Given the description of an element on the screen output the (x, y) to click on. 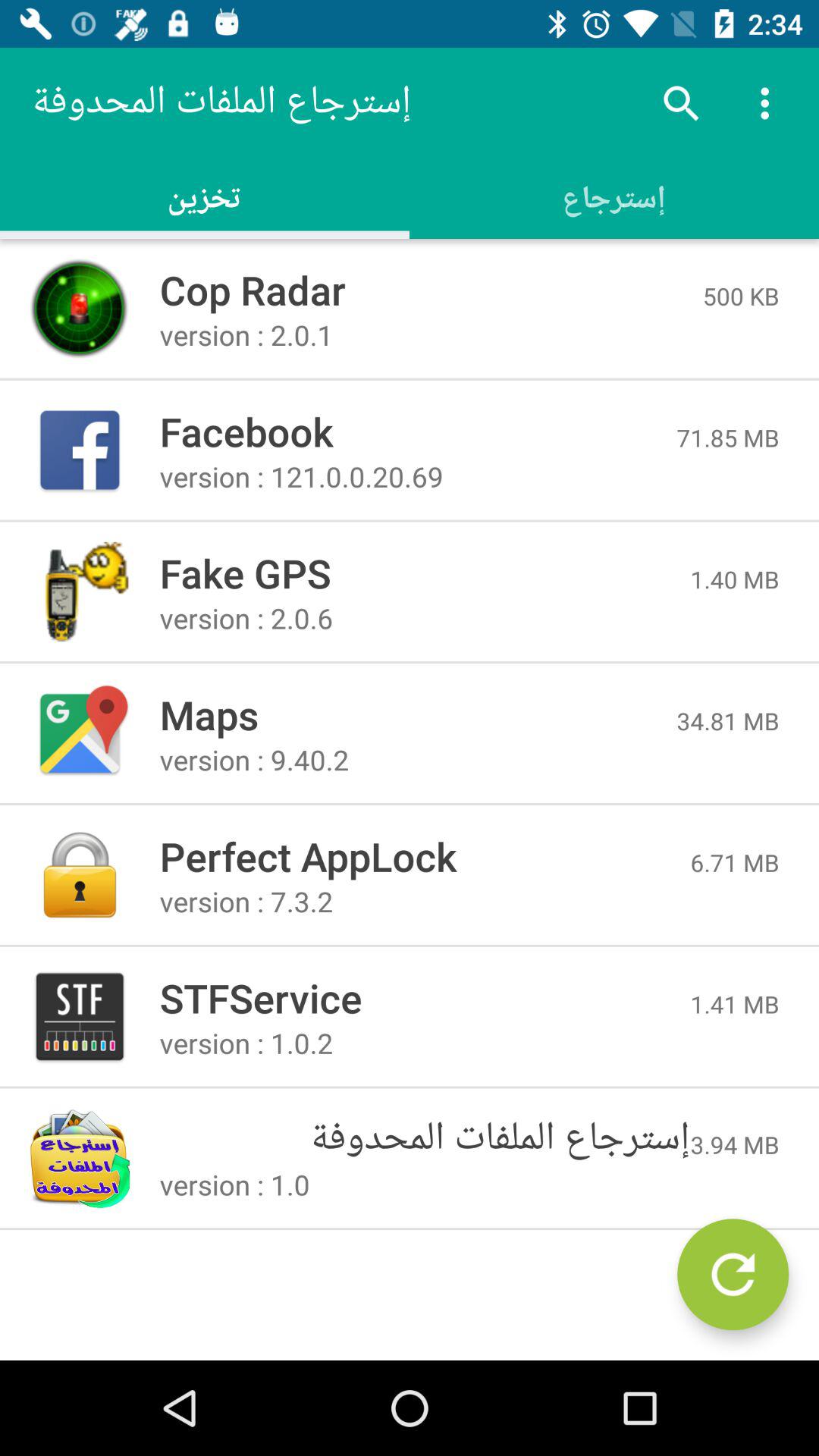
turn on the icon to the left of the 500 kb icon (430, 289)
